Given the description of an element on the screen output the (x, y) to click on. 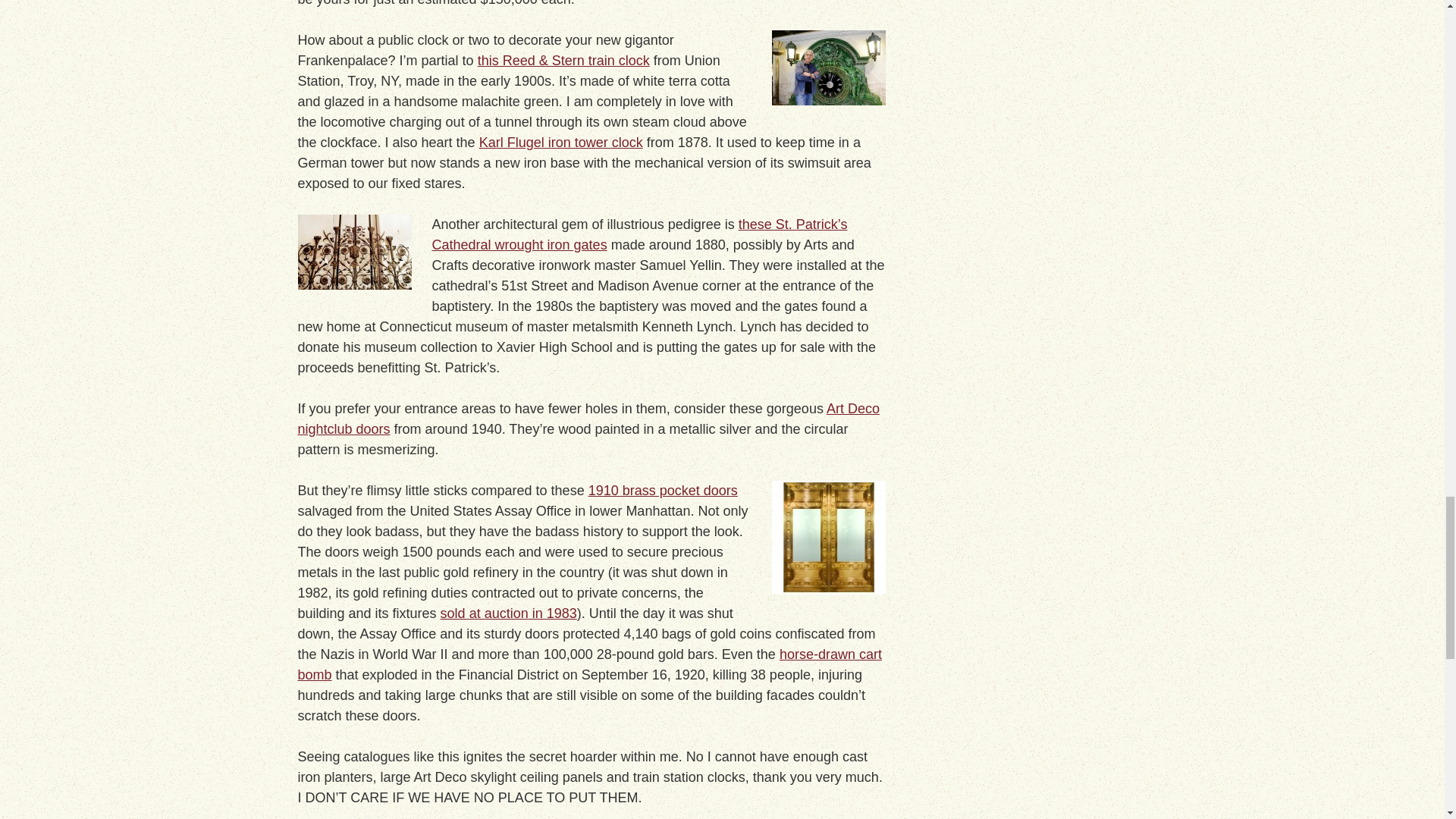
1910 brass pocket doors (663, 490)
Art Deco nightclub doors (588, 418)
horse-drawn cart bomb (588, 664)
Karl Flugel iron tower clock (561, 142)
sold at auction in 1983 (508, 613)
